Given the description of an element on the screen output the (x, y) to click on. 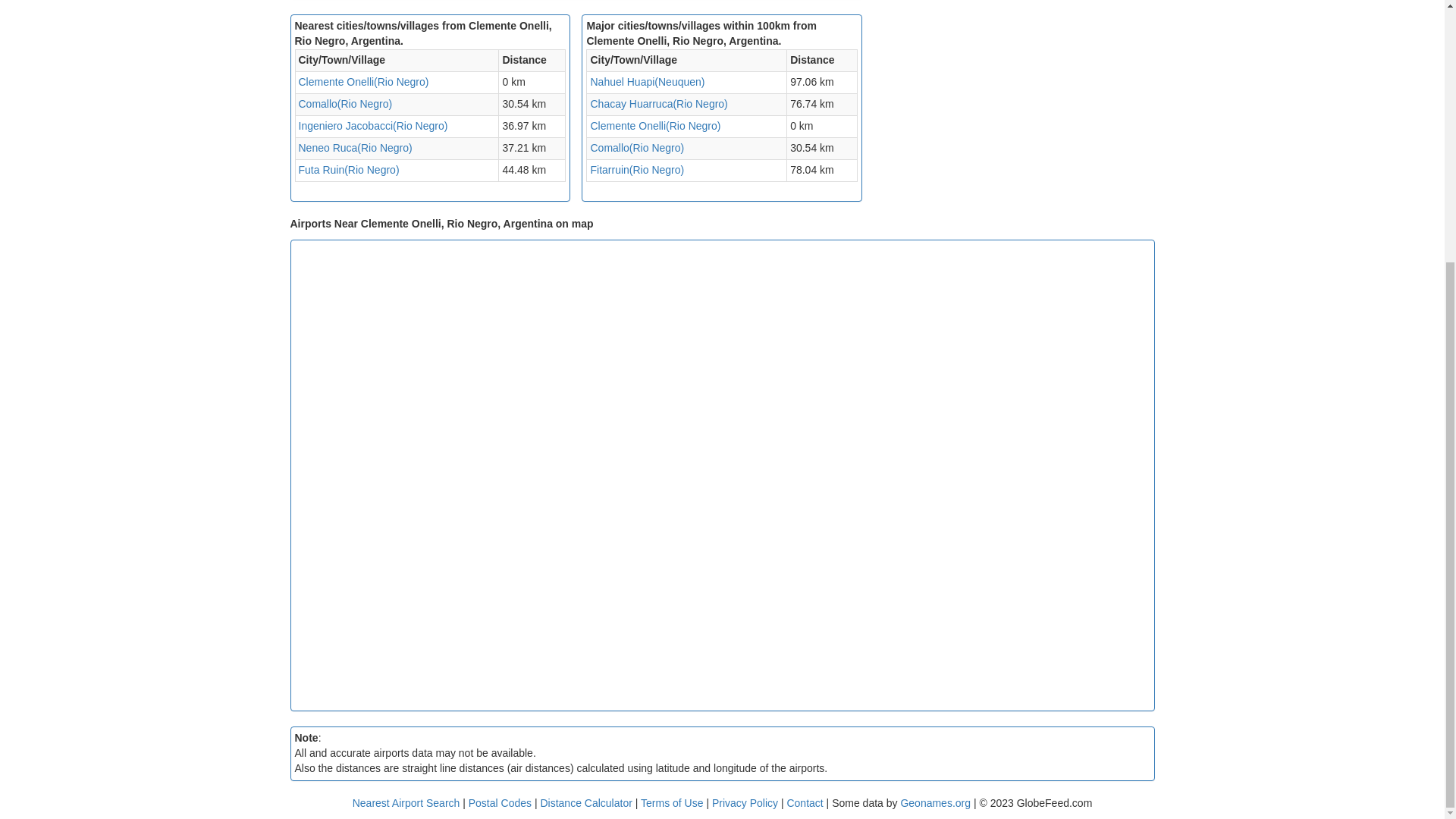
Privacy Policy (745, 802)
Airports near Clemente Onelli, Rio Negro, Argentina (654, 125)
Airports near Fitarruin, Rio Negro, Argentina (636, 169)
Airports near Clemente Onelli, Rio Negro, Argentina (363, 81)
Airports near Nahuel Huapi, Neuquen, Argentina (646, 81)
Terms of Use (673, 802)
Postal Codes (499, 802)
Airports near Chacay Huarruca, Rio Negro, Argentina (657, 103)
Nearest Airport Search (406, 802)
Contact (804, 802)
